Given the description of an element on the screen output the (x, y) to click on. 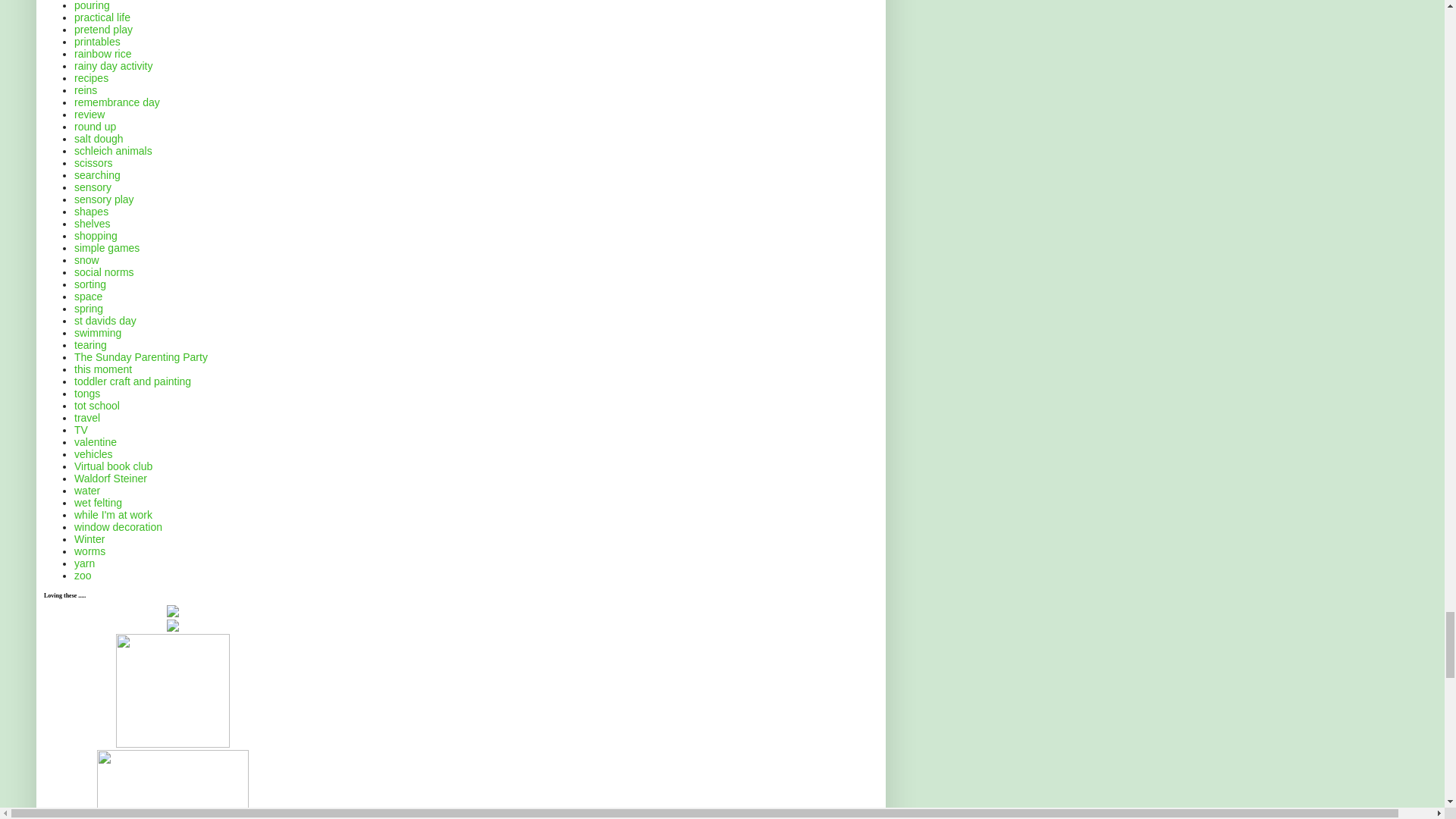
Proud Member of the Kid Blogger Network (173, 743)
